Given the description of an element on the screen output the (x, y) to click on. 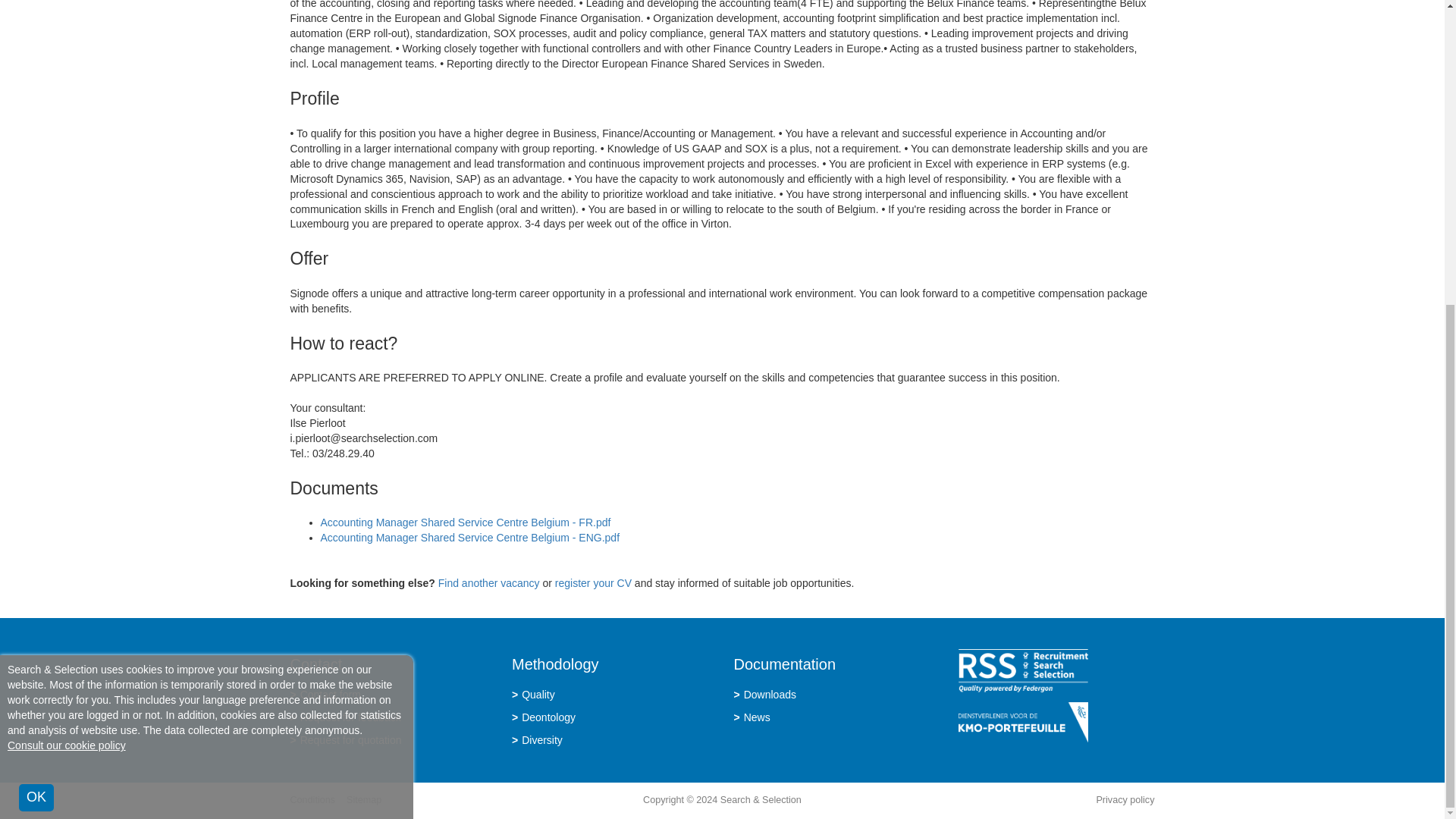
OK (35, 318)
